Given the description of an element on the screen output the (x, y) to click on. 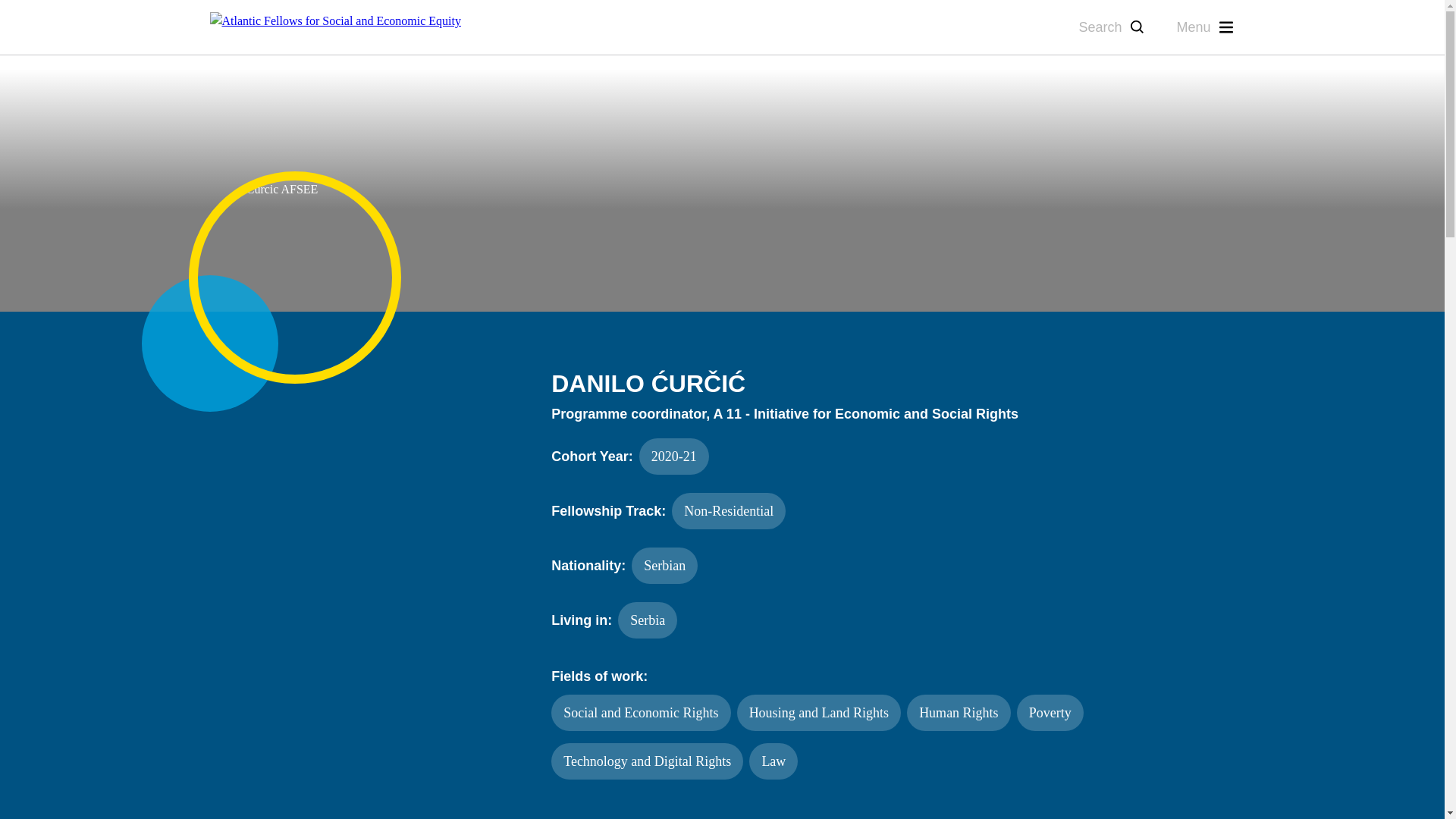
Human Rights (958, 712)
Serbian (664, 565)
Serbia (647, 619)
Poverty (1049, 712)
Menu (1205, 26)
Technology and Digital Rights (646, 760)
Go to home page (335, 27)
Non-Residential (728, 511)
Law (773, 760)
Social and Economic Rights (640, 712)
Housing and Land Rights (818, 712)
Search (1111, 26)
2020-21 (674, 456)
Skip to main content (12, 77)
